Given the description of an element on the screen output the (x, y) to click on. 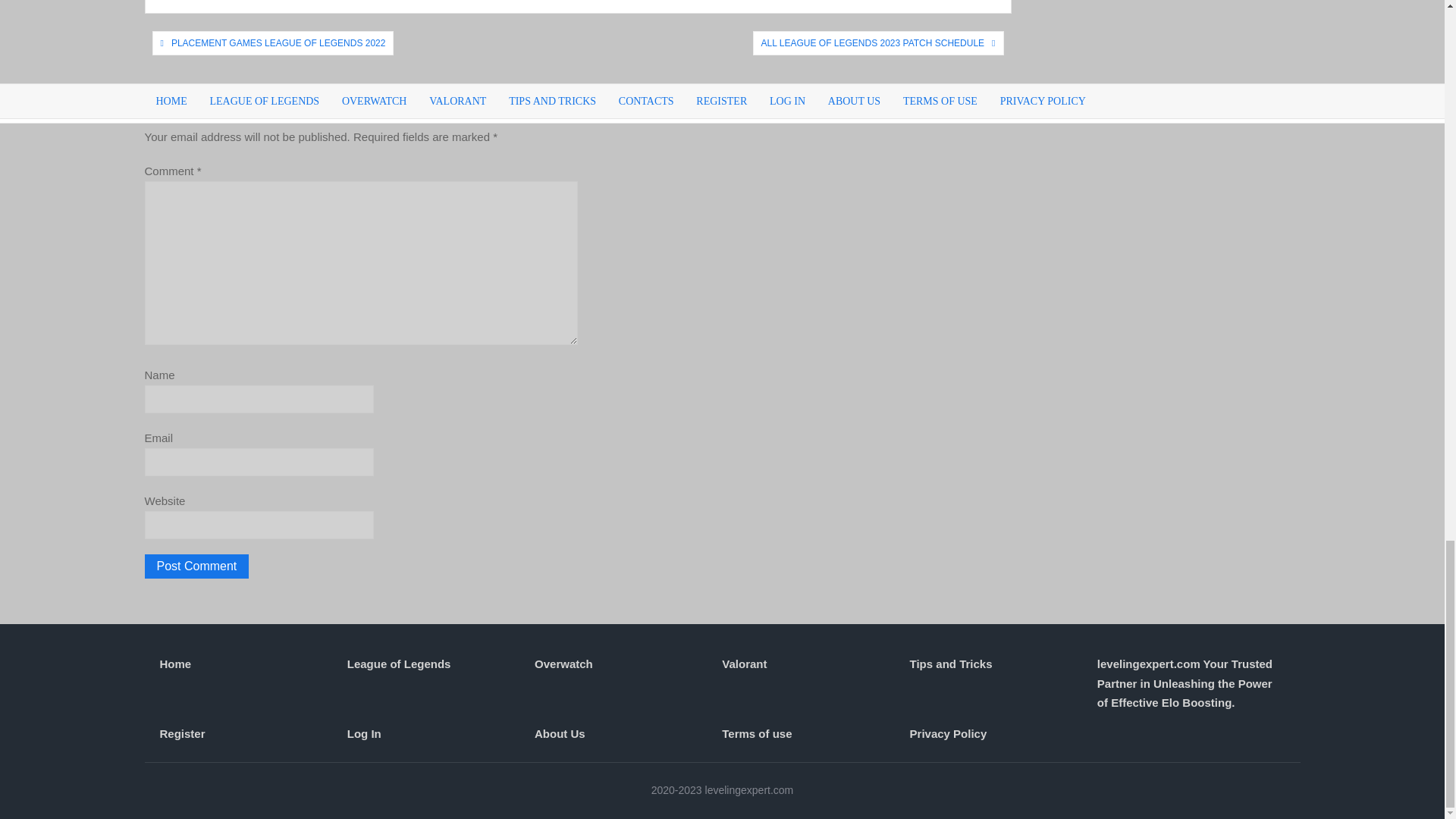
Post Comment (196, 566)
